Given the description of an element on the screen output the (x, y) to click on. 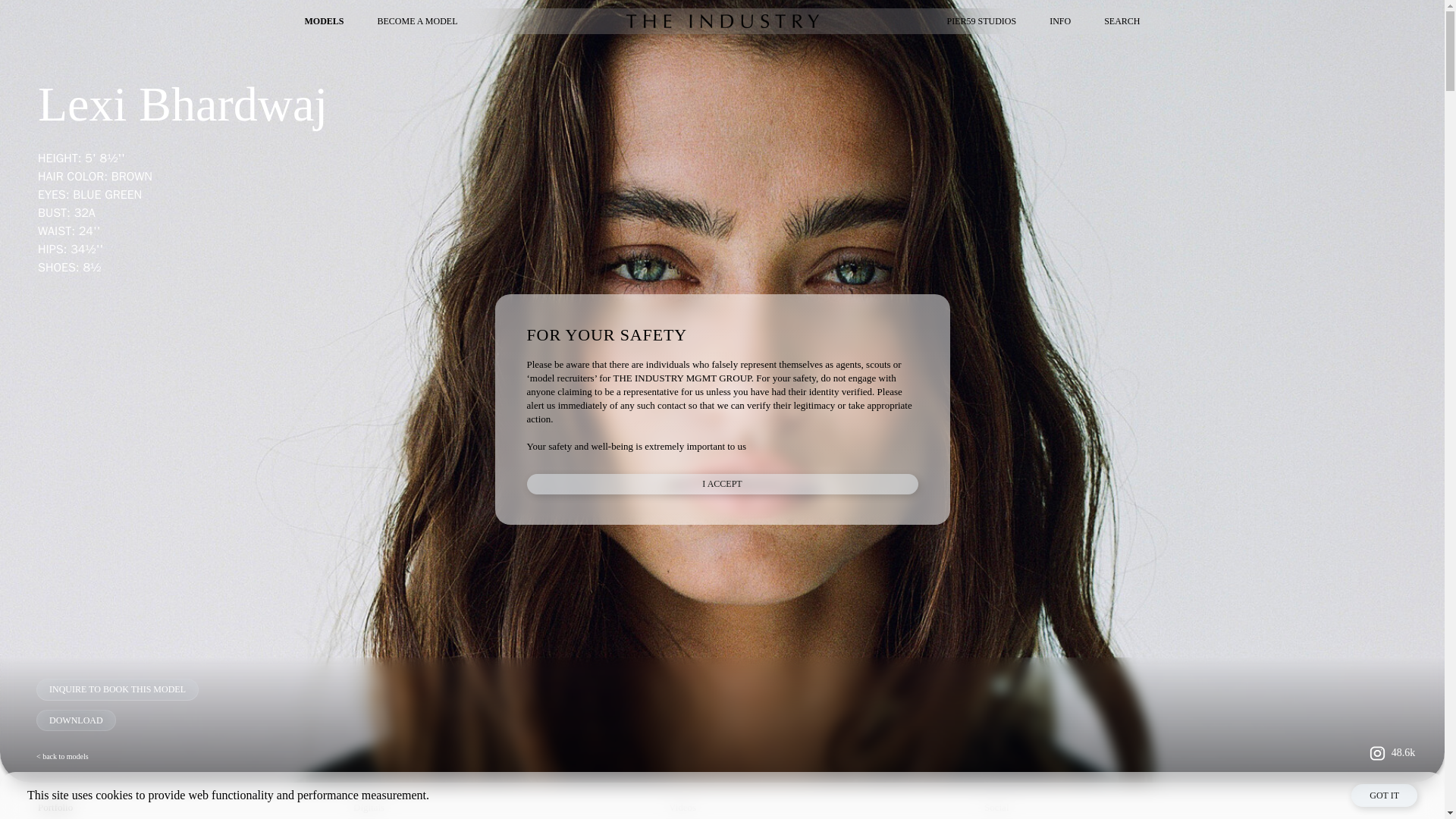
BECOME A MODEL (417, 20)
social-LEXI BHARDWAJ (1135, 809)
digitals-LEXI BHARDWAJ (504, 809)
DOWNLOAD (76, 720)
GOT IT (1383, 794)
Social (1135, 809)
I ACCEPT (721, 483)
Digitals (504, 809)
PRIVACY (182, 790)
INQUIRE TO BOOK THIS MODEL (117, 689)
48.6k (1388, 753)
MEDIASLIDE MODEL AGENCY SOFTWARE (1345, 806)
portfolio-LEXI BHARDWAJ (188, 809)
DESIGNED BY BCOME AGENCY (1367, 791)
Portfolio (188, 809)
